Given the description of an element on the screen output the (x, y) to click on. 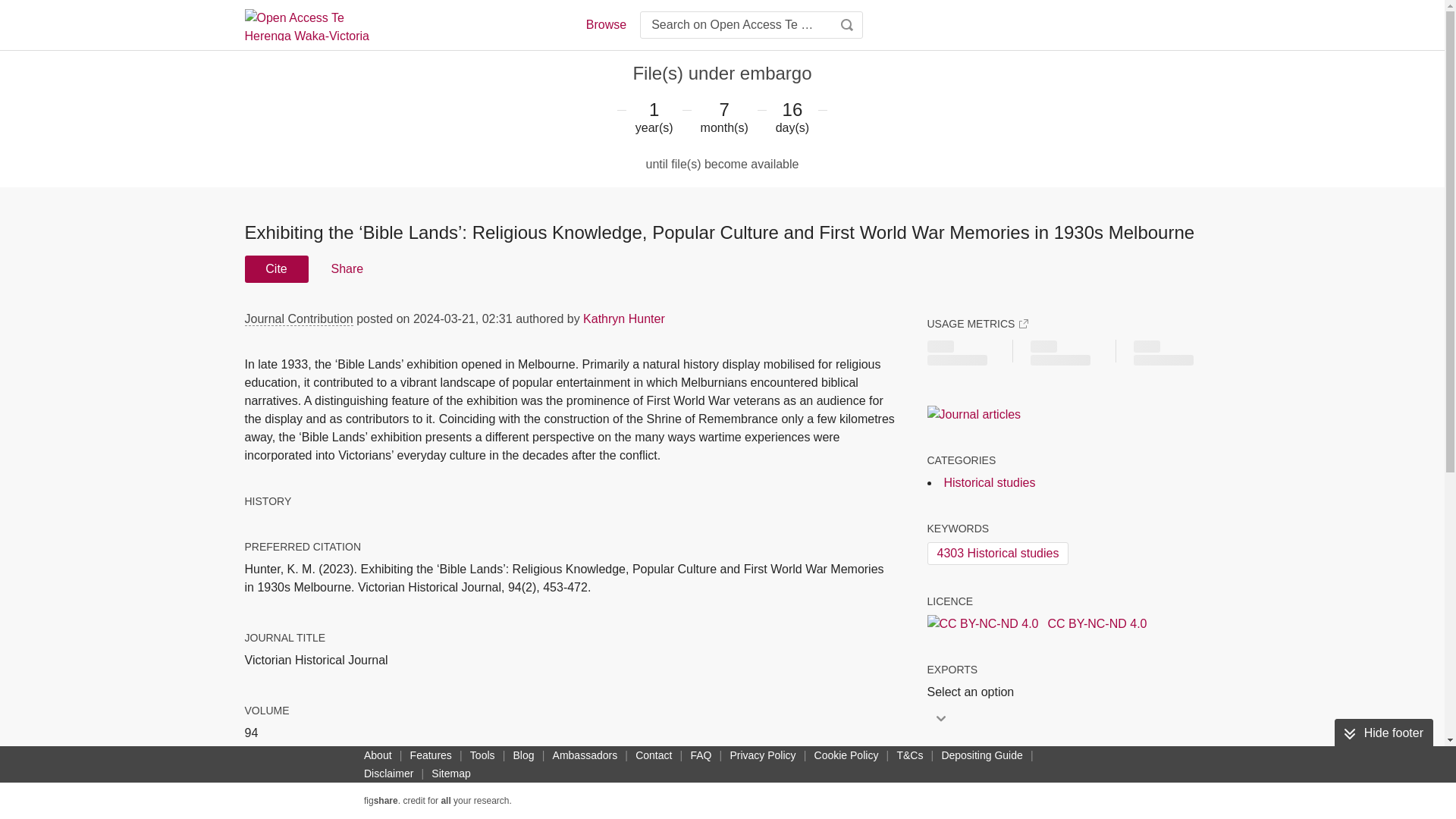
Contact (653, 755)
Cookie Policy (846, 755)
Hide footer (1383, 733)
Cite (275, 268)
Browse (605, 24)
Depositing Guide (981, 755)
Disclaimer (388, 773)
CC BY-NC-ND 4.0 (1036, 624)
Features (431, 755)
Tools (482, 755)
Kathryn Hunter (624, 318)
FAQ (700, 755)
Share (346, 268)
About (377, 755)
Historical studies (989, 481)
